Given the description of an element on the screen output the (x, y) to click on. 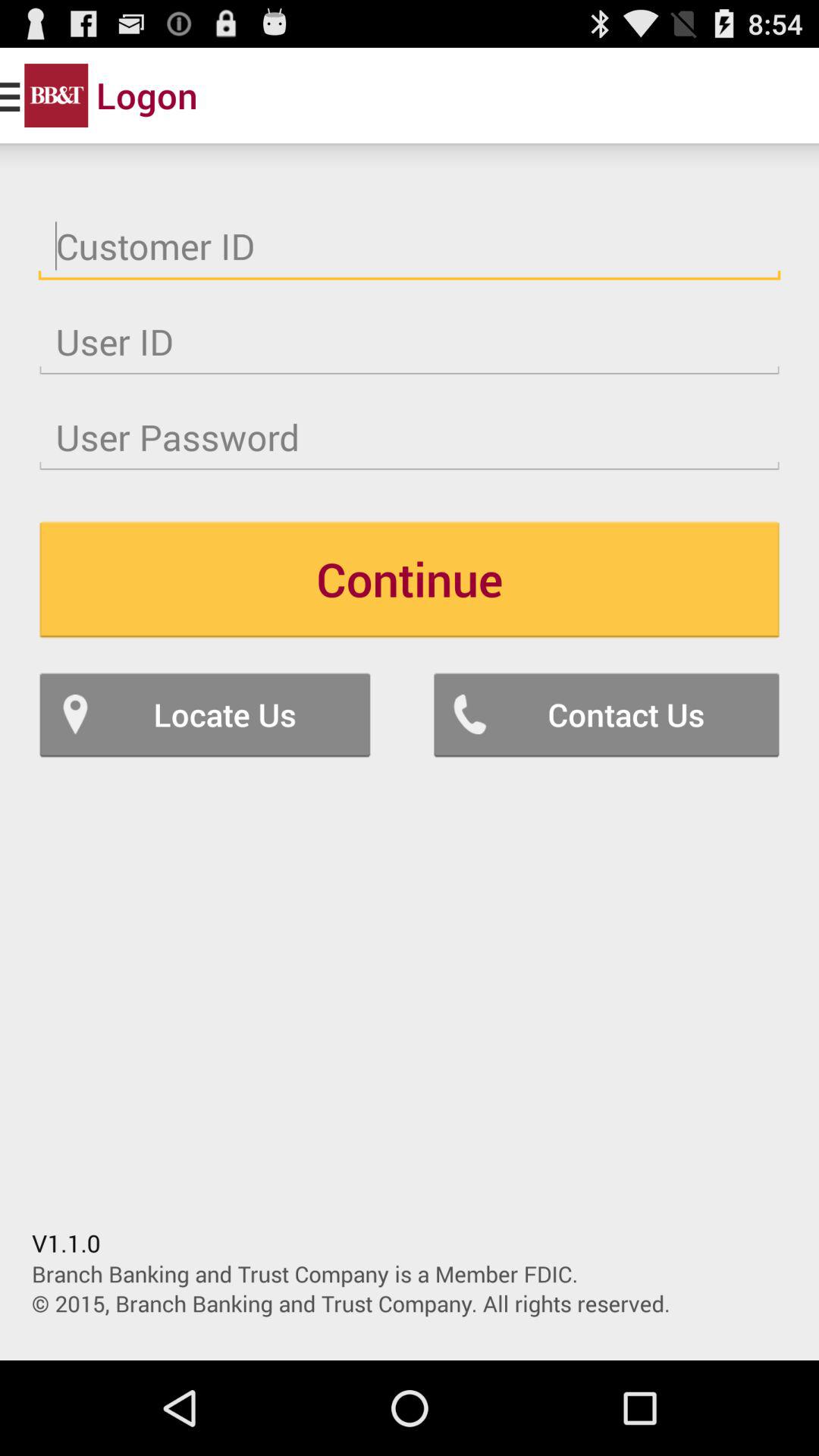
tap the button to the left of contact us (204, 714)
